Given the description of an element on the screen output the (x, y) to click on. 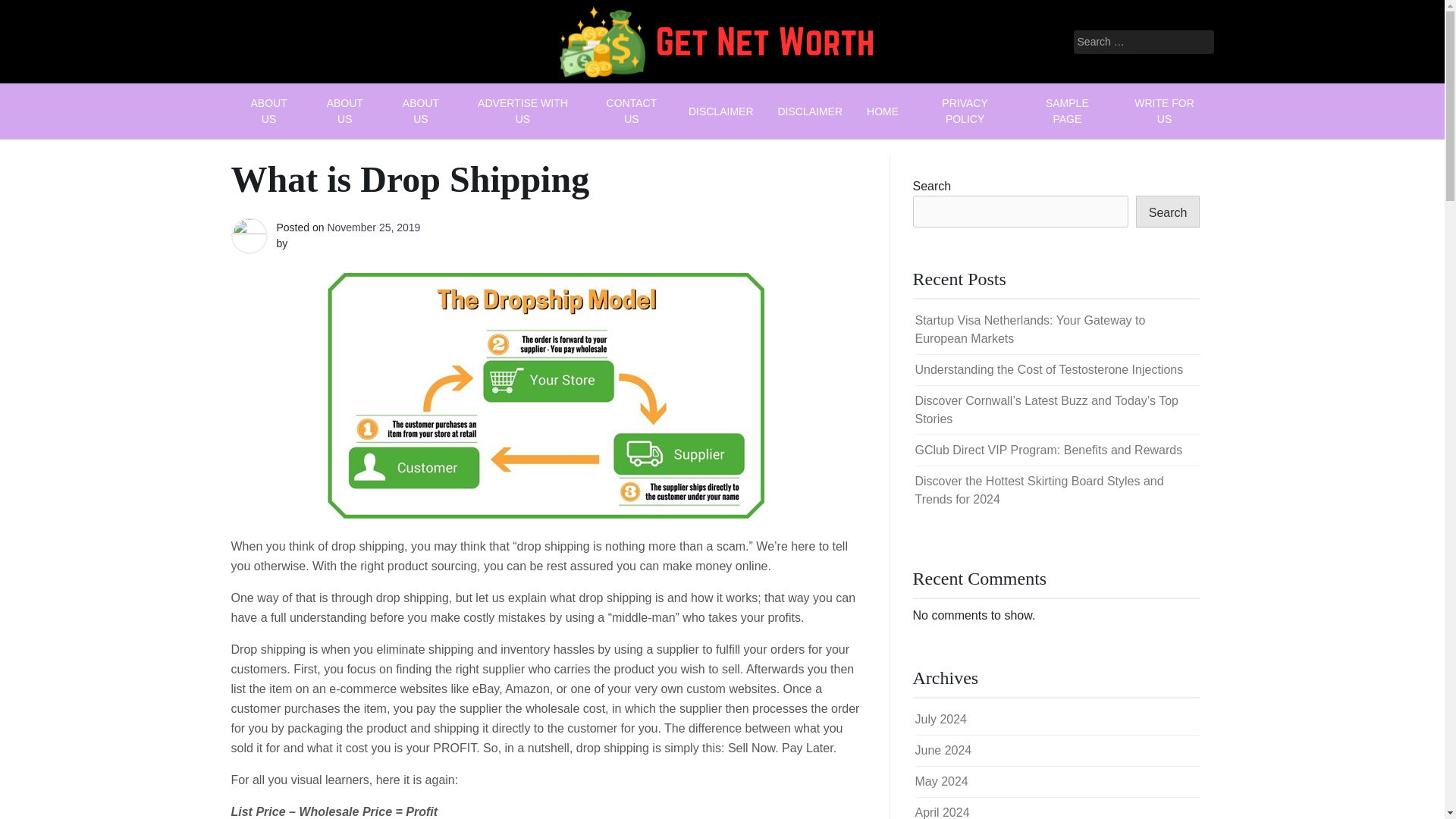
Startup Visa Netherlands: Your Gateway to European Markets (1029, 328)
ABOUT US (420, 111)
November 25, 2019 (373, 227)
HOME (882, 110)
Search (1167, 211)
April 2024 (941, 812)
GClub Direct VIP Program: Benefits and Rewards (1048, 449)
ABOUT US (344, 111)
Get Net Worth (654, 98)
July 2024 (940, 718)
ADVERTISE WITH US (522, 111)
June 2024 (942, 749)
SAMPLE PAGE (1067, 111)
Understanding the Cost of Testosterone Injections (1048, 369)
